Given the description of an element on the screen output the (x, y) to click on. 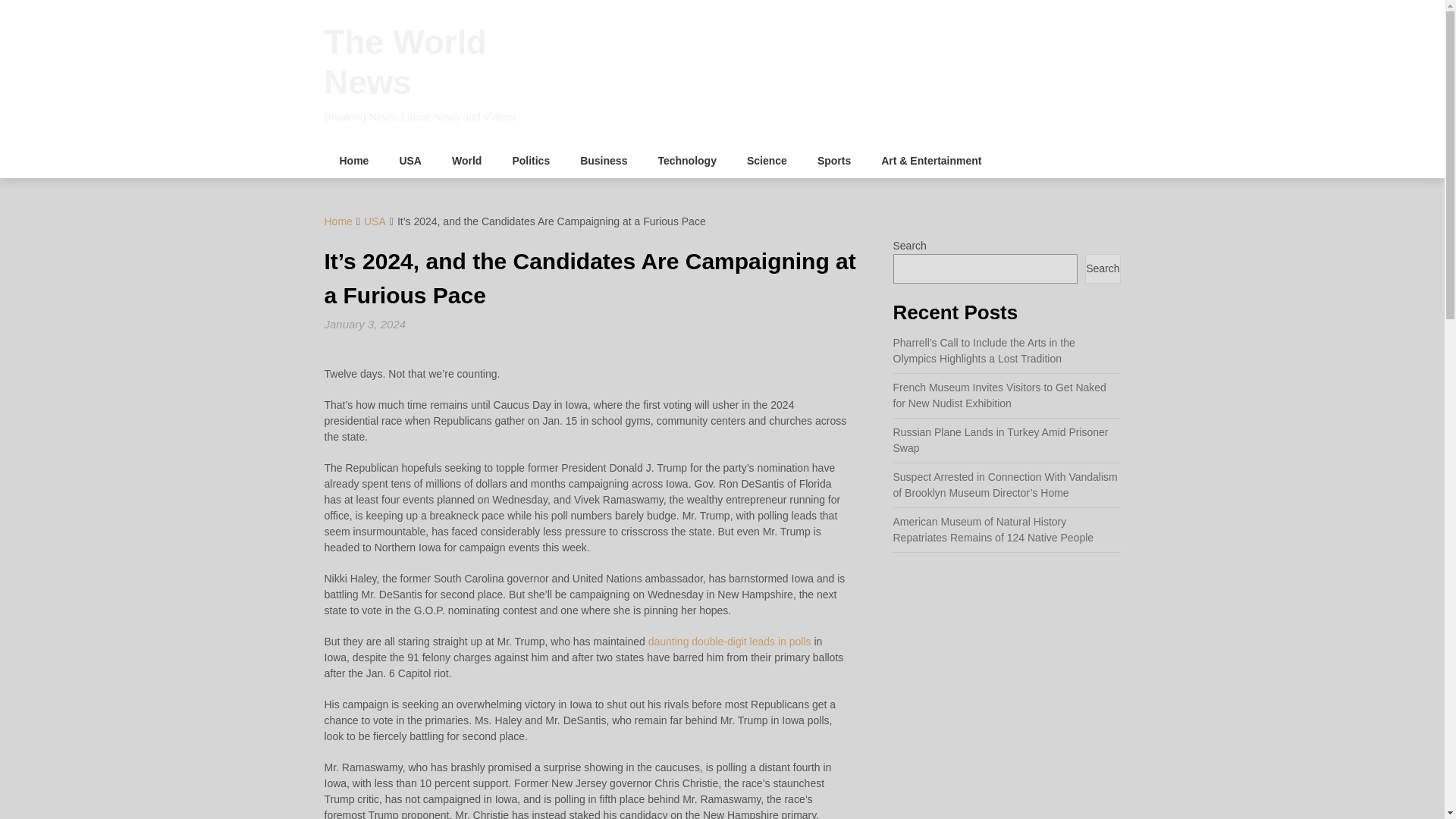
USA (410, 161)
Science (767, 161)
Russian Plane Lands in Turkey Amid Prisoner Swap (1000, 439)
Search (1101, 268)
The World News (405, 61)
daunting double-digit leads in polls (728, 641)
World (466, 161)
Business (603, 161)
Sports (834, 161)
Politics (530, 161)
Technology (687, 161)
USA (374, 221)
Home (354, 161)
